Given the description of an element on the screen output the (x, y) to click on. 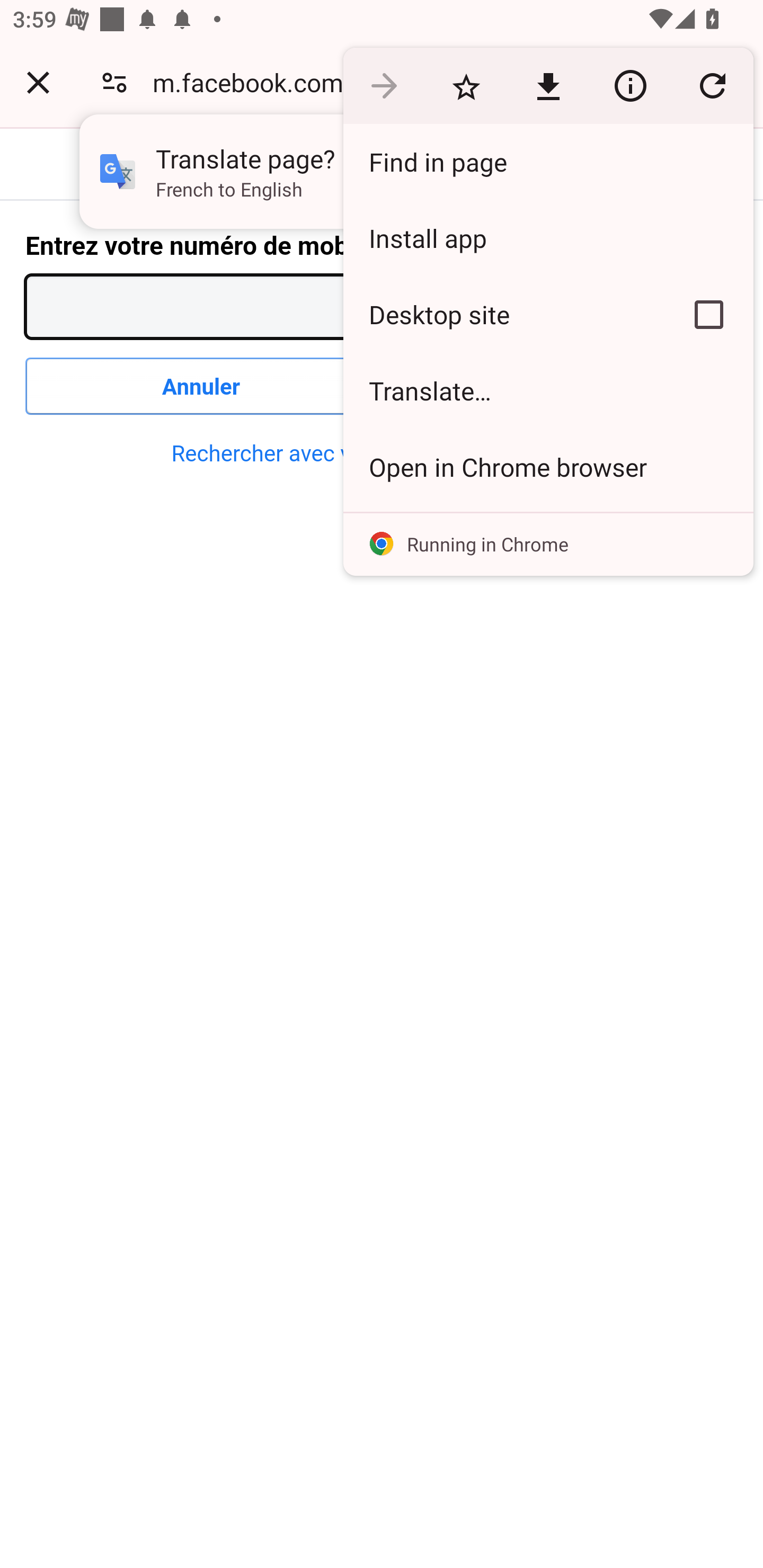
Go forward (383, 85)
Bookmark (465, 85)
Download this page (548, 85)
View site information (630, 85)
Refresh (712, 85)
Find in page (548, 161)
Install app (548, 237)
Desktop site Turn on Request desktop site (503, 313)
Translate… (548, 390)
Open in Chrome browser (548, 466)
